Given the description of an element on the screen output the (x, y) to click on. 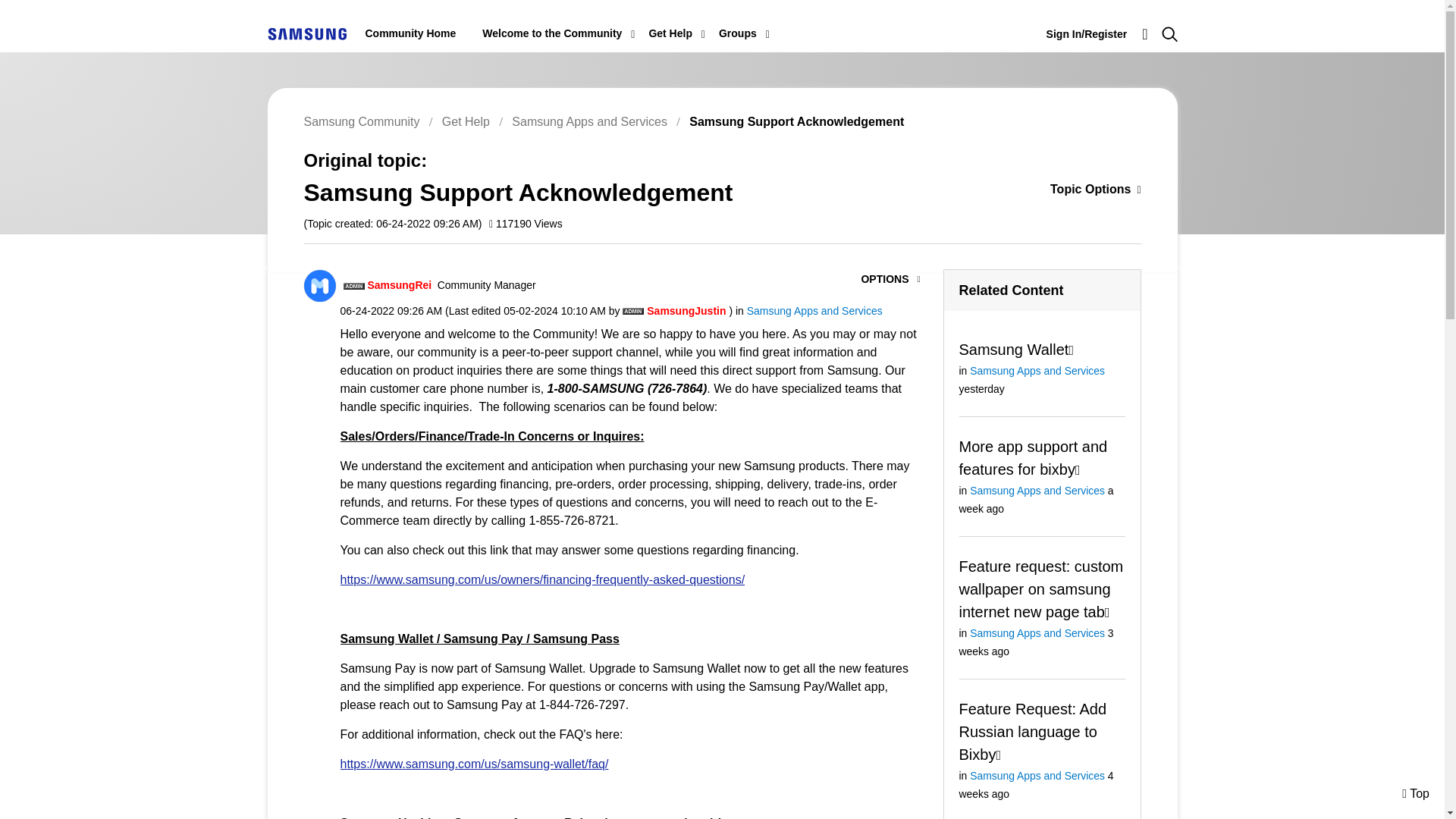
Welcome to the Community (551, 33)
Get Help (670, 33)
Samsung (306, 33)
Groups (738, 33)
Welcome to the Community (551, 33)
Groups (738, 33)
Community Home (411, 33)
Samsung (306, 33)
Community Home (411, 33)
Get Help (670, 33)
